Given the description of an element on the screen output the (x, y) to click on. 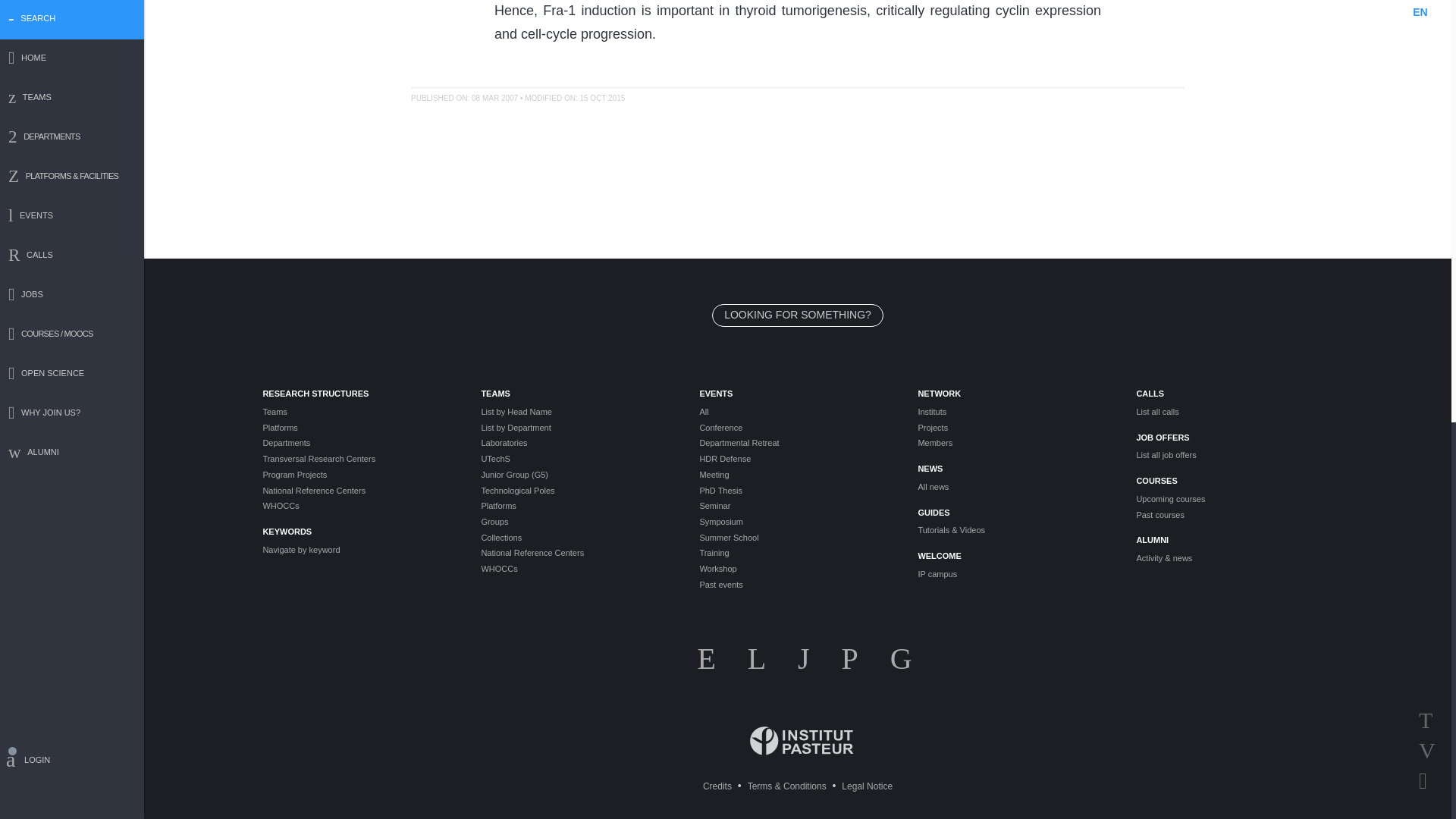
Program Projects (360, 474)
Platforms (360, 427)
Transversal Research Centers (360, 459)
Departments (360, 442)
Teams (360, 411)
